Given the description of an element on the screen output the (x, y) to click on. 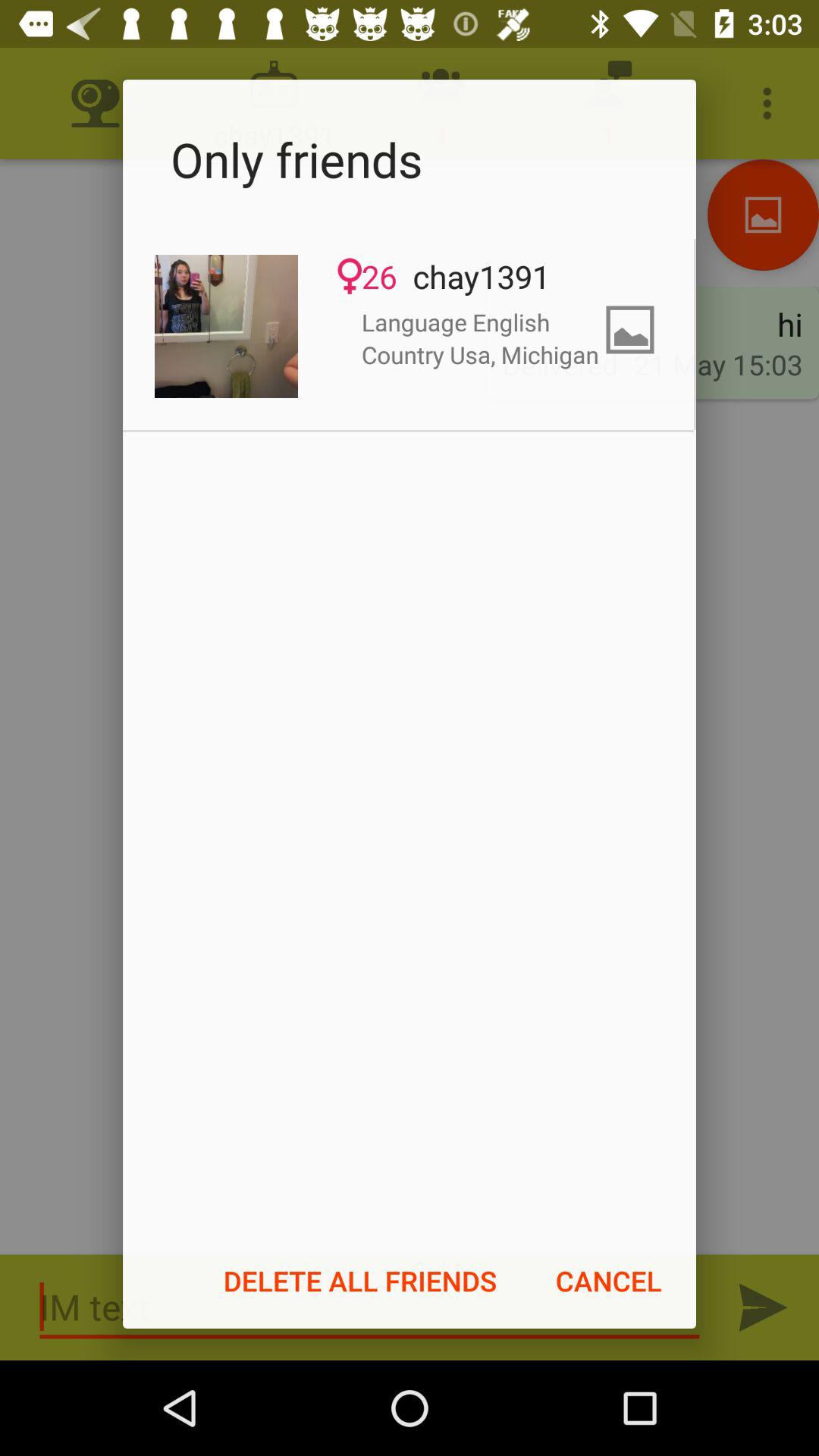
click the item next to the 26 icon (226, 326)
